Given the description of an element on the screen output the (x, y) to click on. 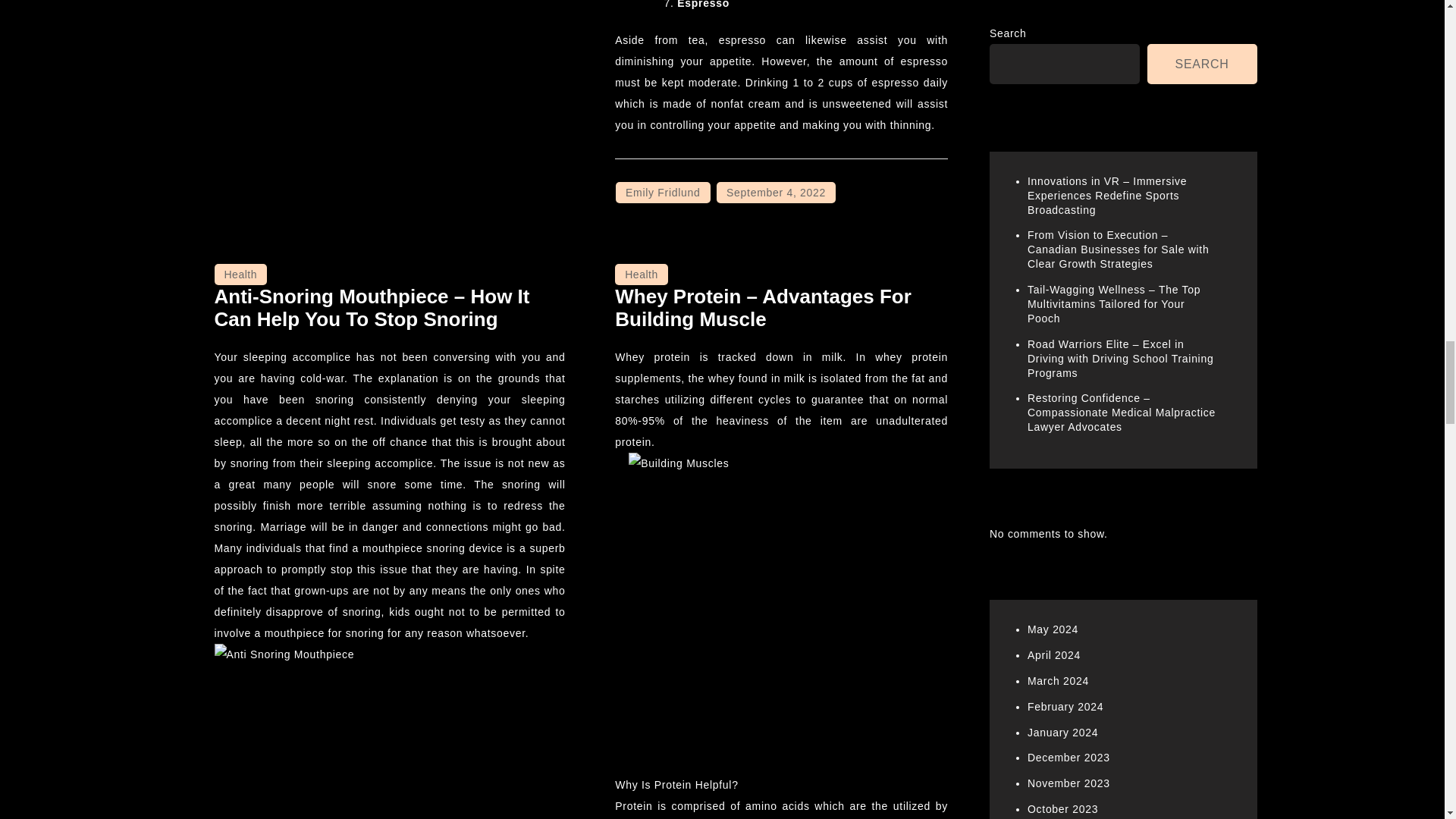
Emily Fridlund (662, 192)
September 4, 2022 (775, 192)
Health (240, 274)
Health (640, 274)
